Given the description of an element on the screen output the (x, y) to click on. 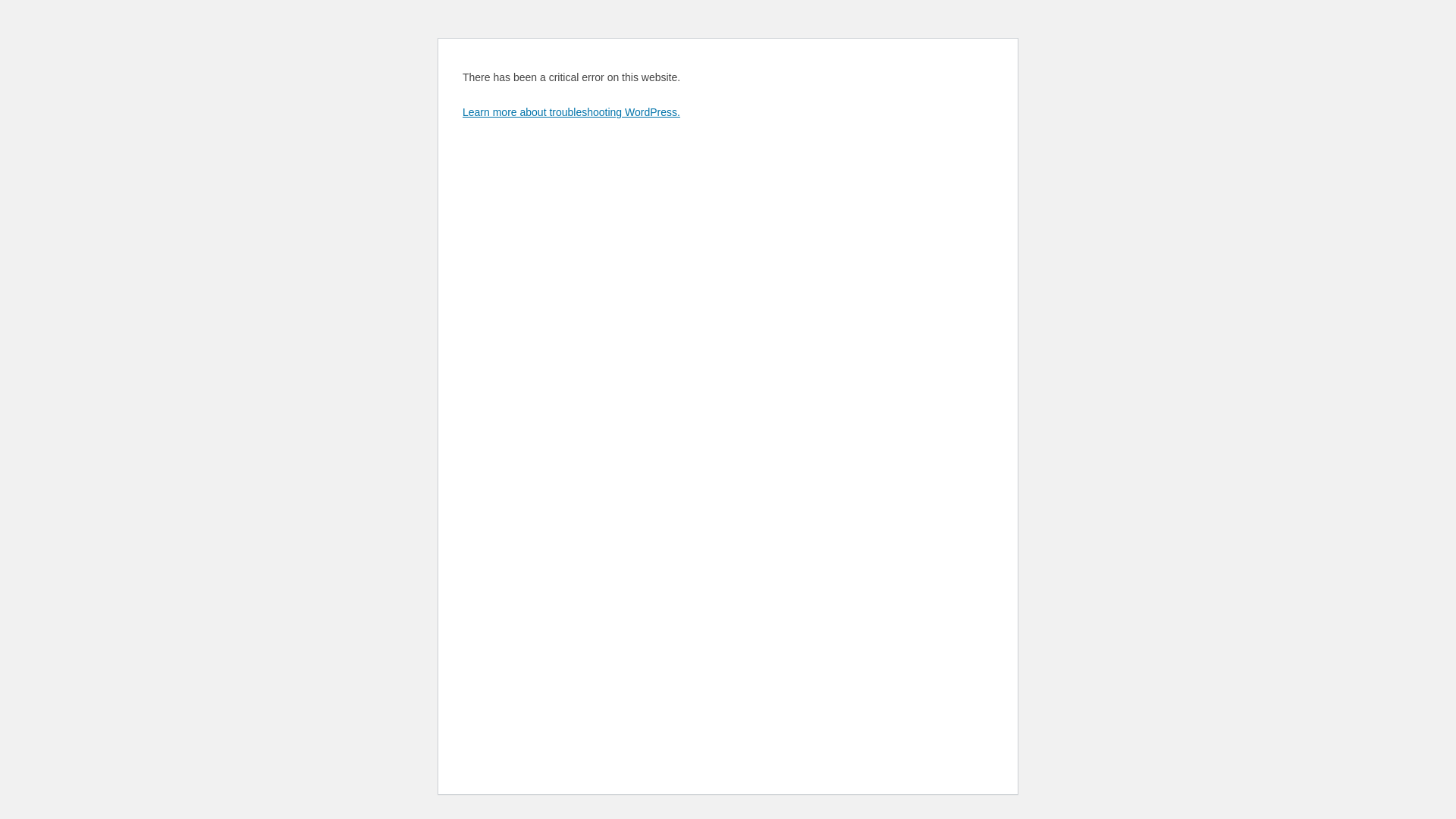
Learn more about troubleshooting WordPress. Element type: text (571, 112)
